Given the description of an element on the screen output the (x, y) to click on. 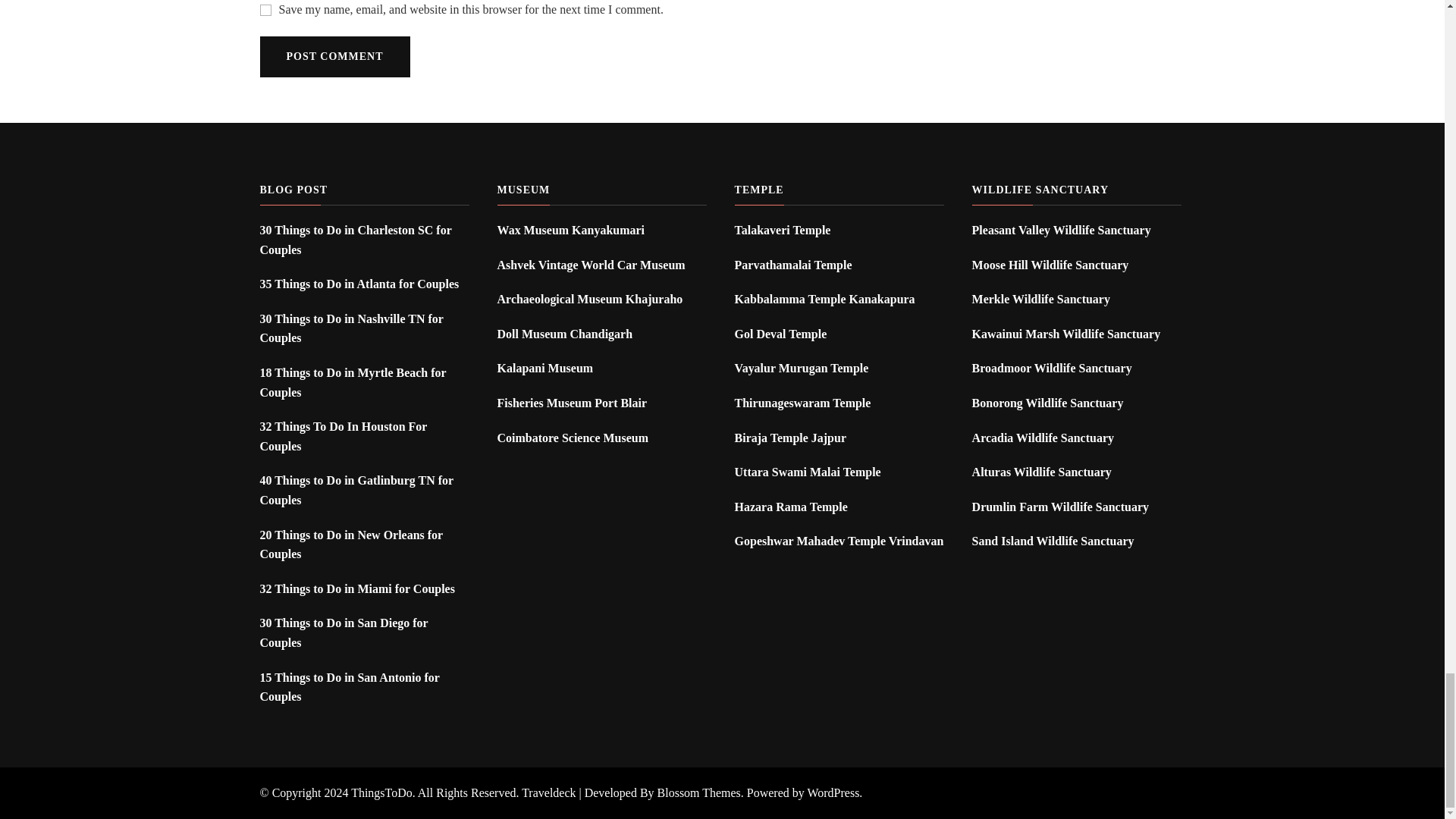
Post Comment (334, 56)
